Given the description of an element on the screen output the (x, y) to click on. 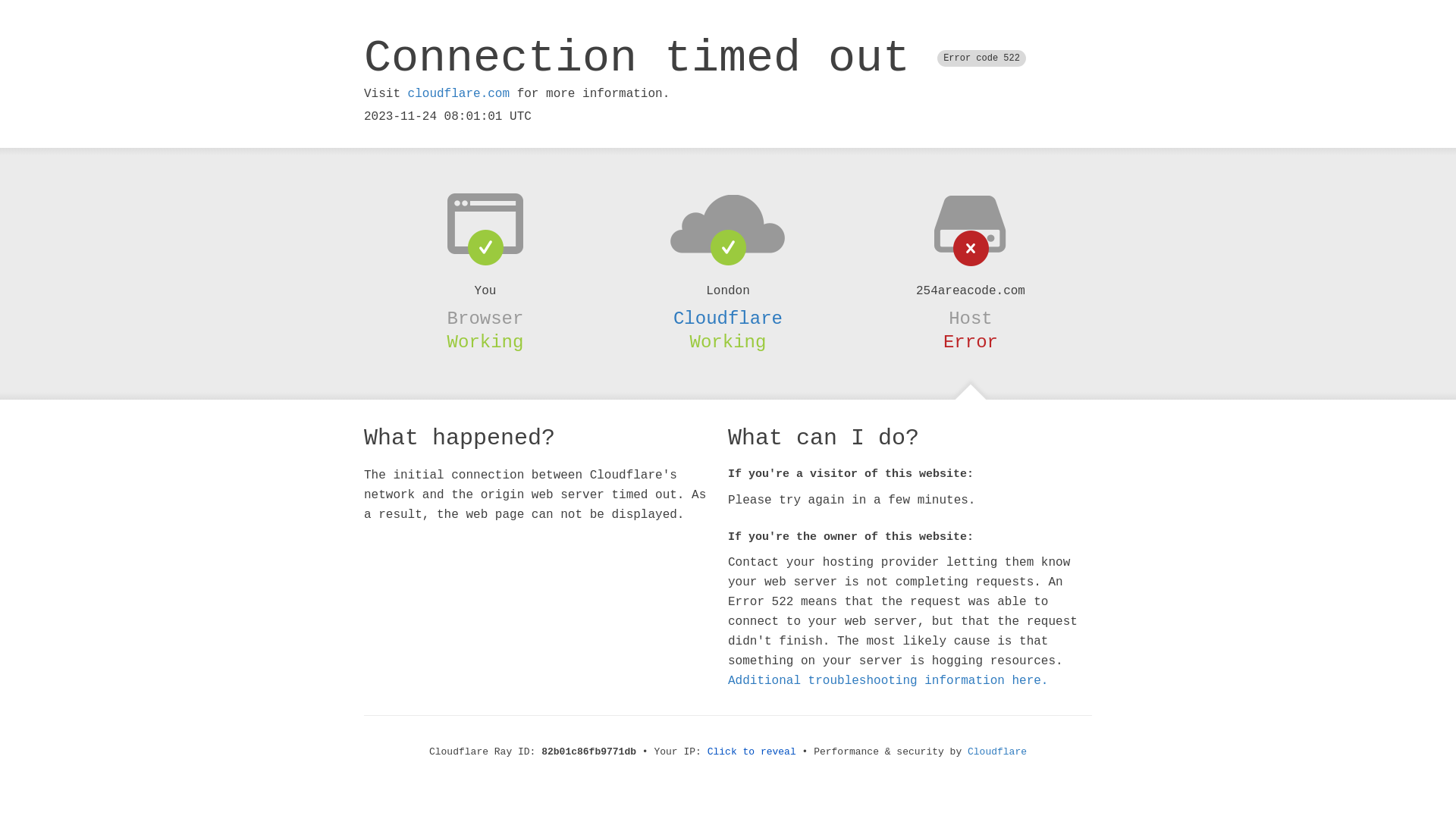
Click to reveal Element type: text (751, 751)
Cloudflare Element type: text (996, 751)
Cloudflare Element type: text (727, 318)
Additional troubleshooting information here. Element type: text (888, 680)
cloudflare.com Element type: text (458, 93)
